Given the description of an element on the screen output the (x, y) to click on. 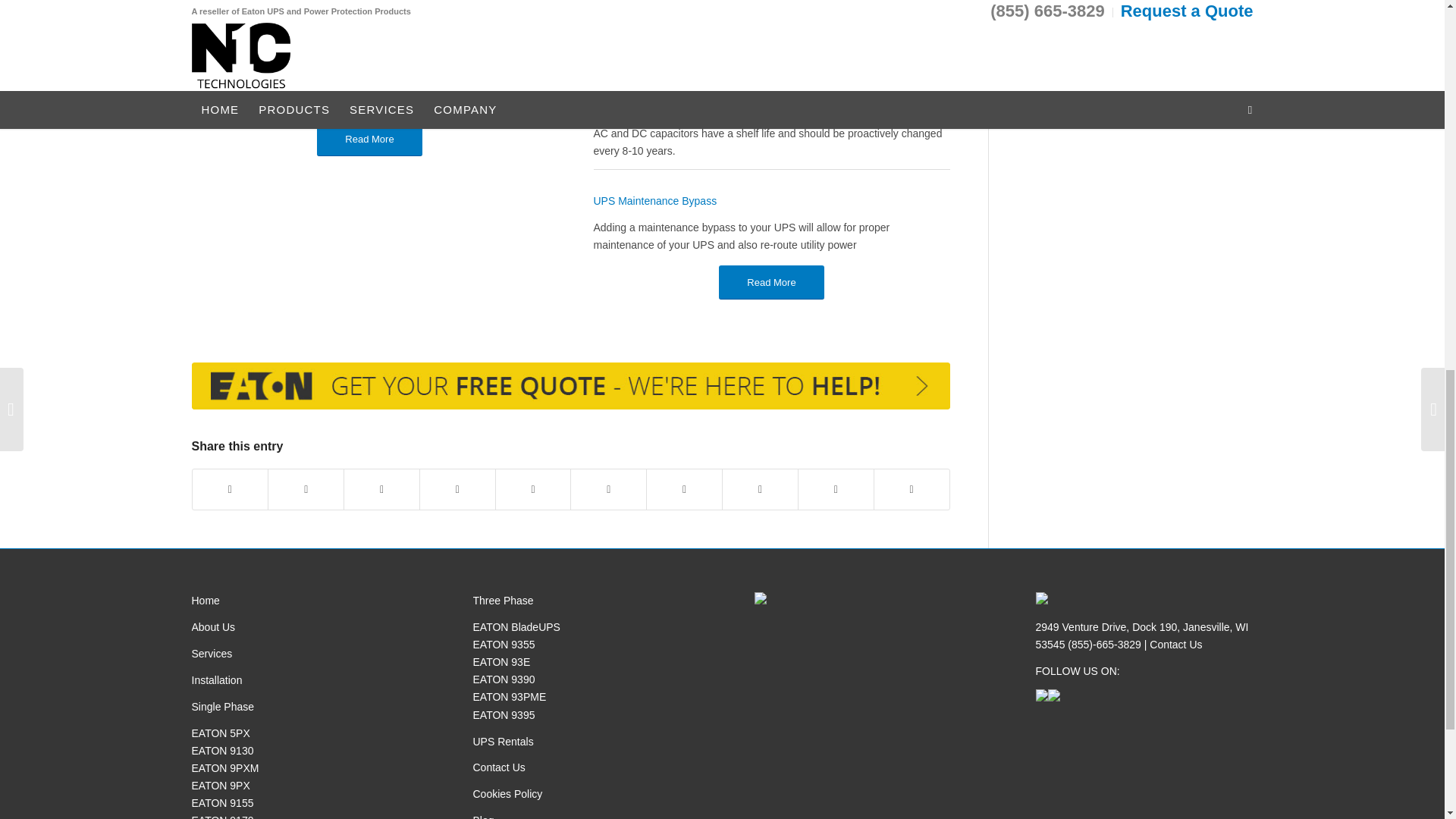
advertisement-image-yellow (569, 386)
Capacitor Shelf Life (638, 106)
Change Your UPS Batteries (657, 12)
Permanent Link: Is your business ready for cyber litigation? (319, 98)
Permanent Link: Power Primer FAQs (251, 56)
UPS Maintenance Bypass (654, 200)
Permanent Link: Here are 5 tips for a tech detox (285, 14)
